Given the description of an element on the screen output the (x, y) to click on. 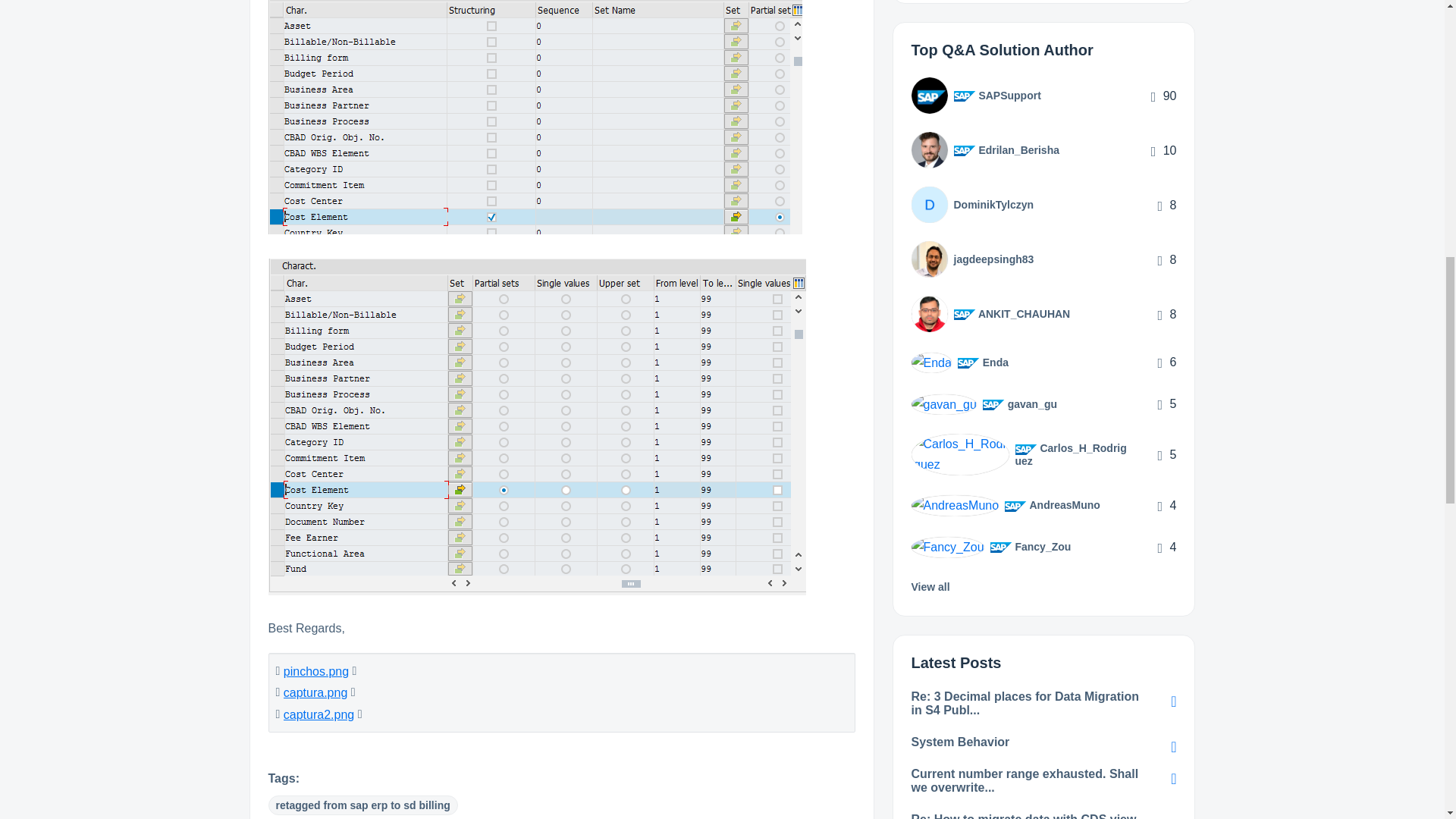
captura.png (315, 692)
retagged from sap erp to sd billing (362, 804)
captura2.png (318, 714)
pinchos.png (316, 671)
